Given the description of an element on the screen output the (x, y) to click on. 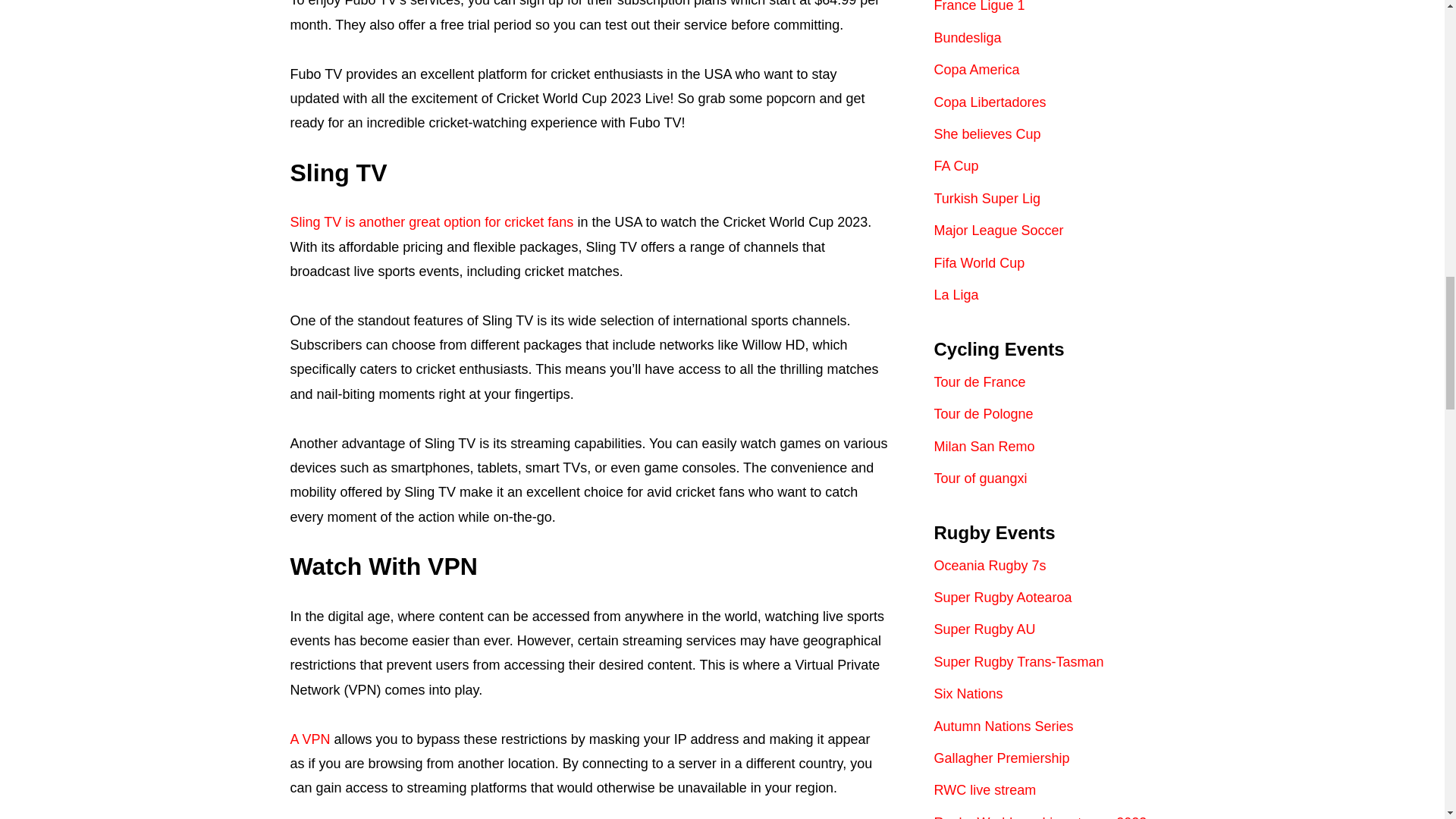
A VPN (309, 739)
Sling TV is another great option for cricket fans (431, 222)
